Given the description of an element on the screen output the (x, y) to click on. 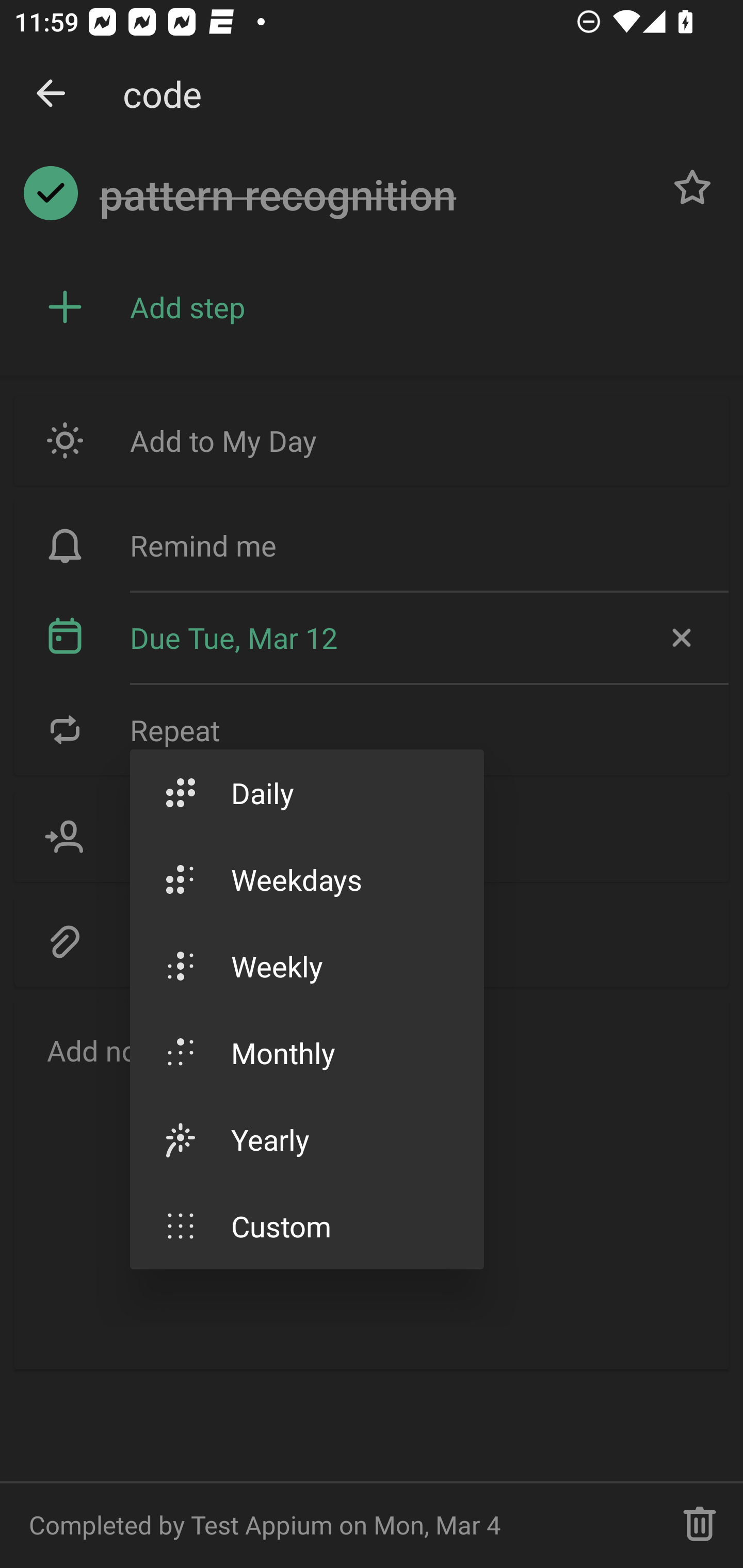
Daily (306, 792)
Weekdays (306, 878)
Weekly (306, 965)
Monthly (306, 1052)
Yearly (306, 1139)
Custom (306, 1226)
